Given the description of an element on the screen output the (x, y) to click on. 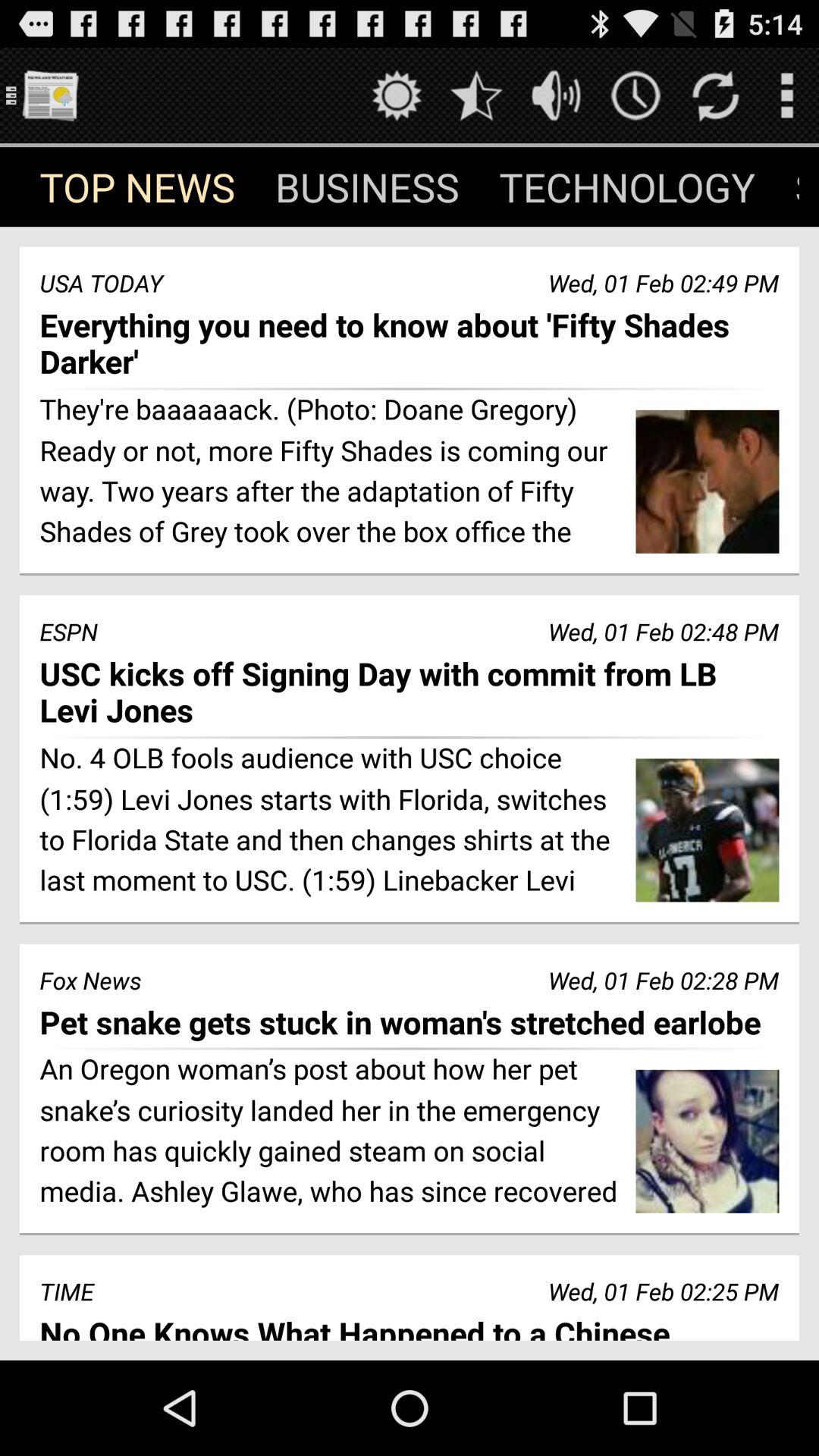
check weather (396, 95)
